Given the description of an element on the screen output the (x, y) to click on. 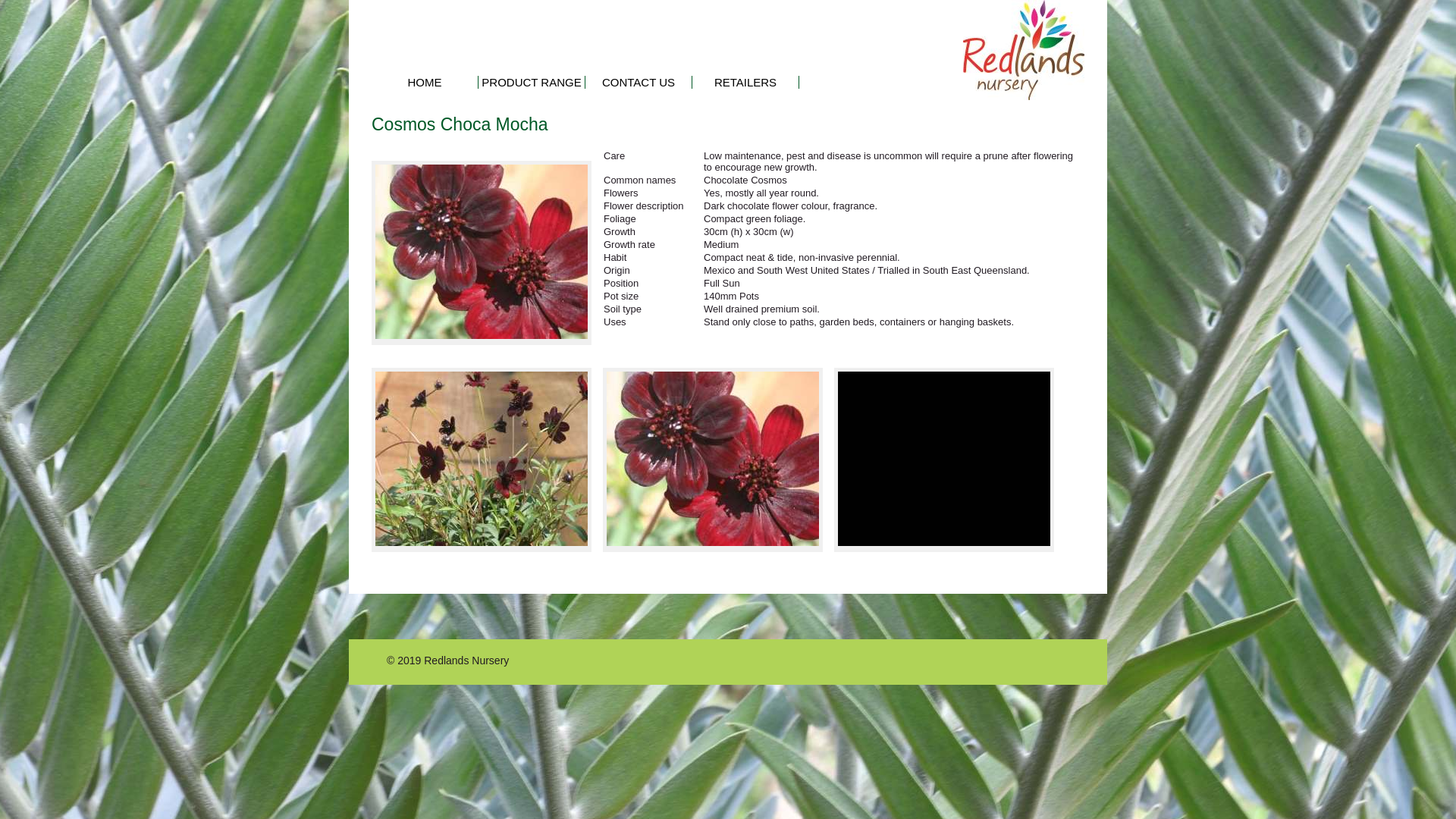
CONTACT US (638, 82)
RETAILERS (745, 82)
PRODUCT RANGE (530, 82)
HOME (424, 82)
